Given the description of an element on the screen output the (x, y) to click on. 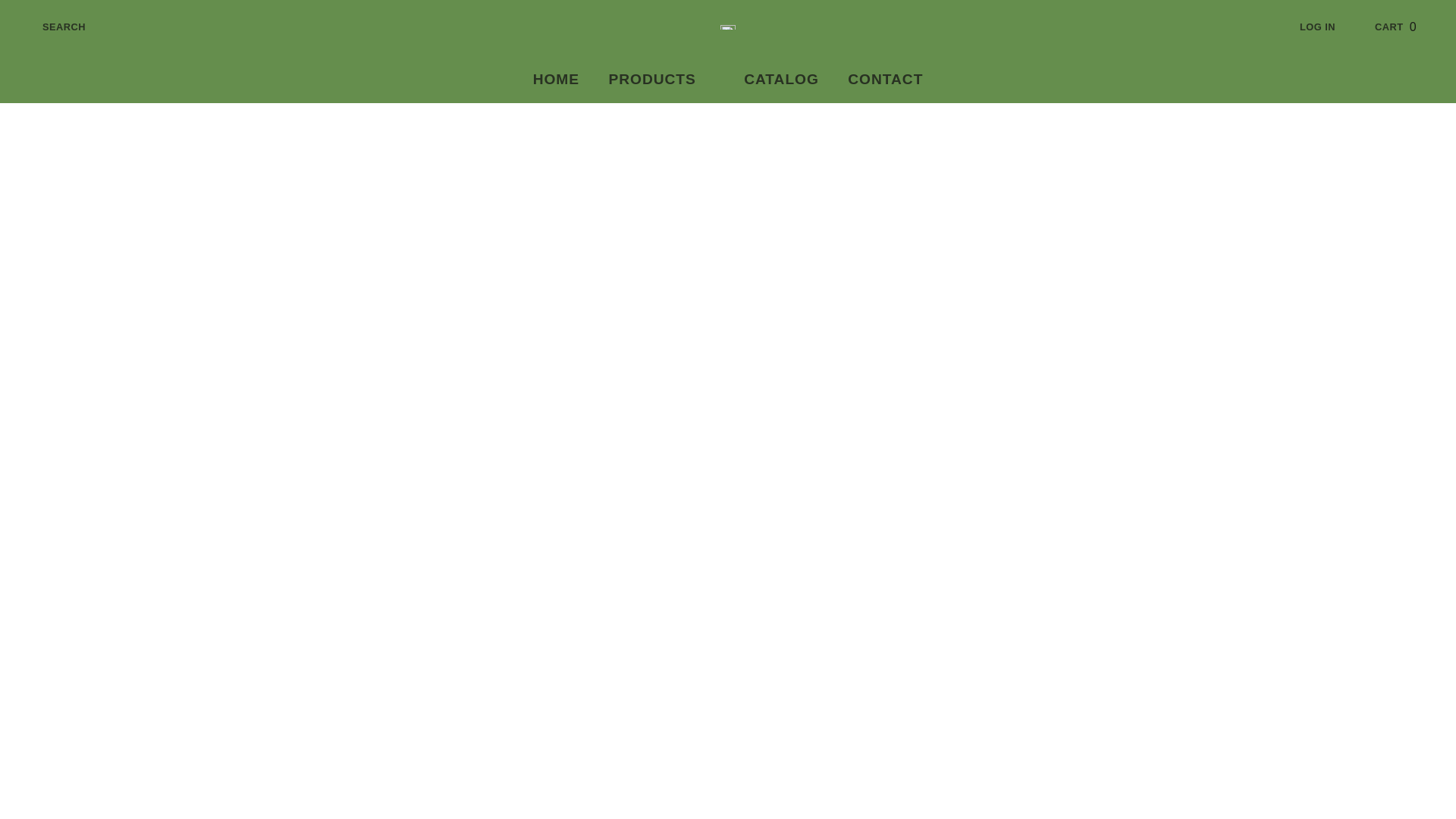
CONTACT (884, 79)
SEARCH (51, 27)
HOME (556, 79)
CATALOG (780, 79)
PRODUCTS (661, 79)
LOG IN (1329, 27)
